Given the description of an element on the screen output the (x, y) to click on. 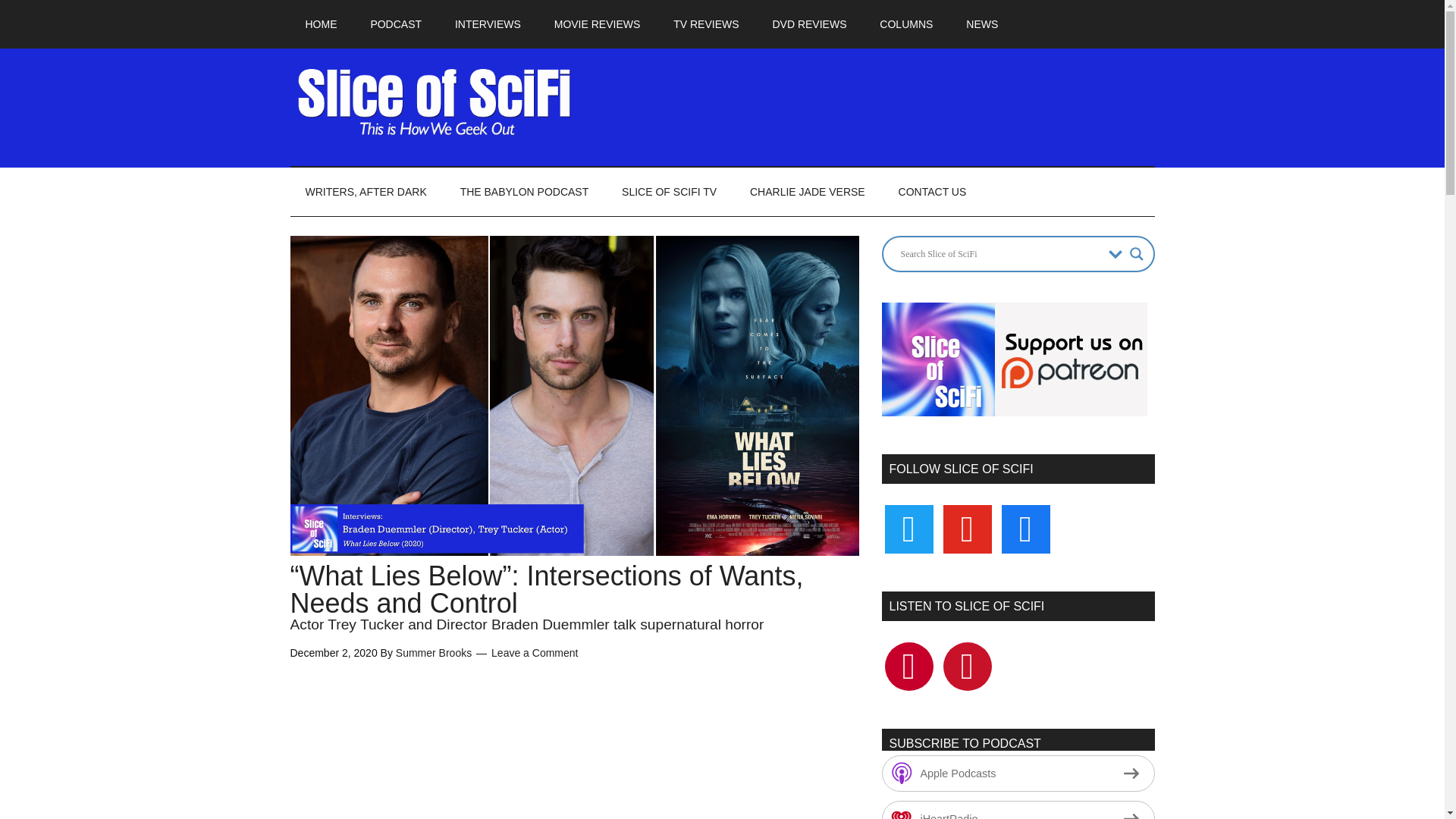
CHARLIE JADE VERSE (807, 191)
MOVIE REVIEWS (597, 24)
CONTACT US (932, 191)
HOME (320, 24)
SLICE OF SCIFI TV (669, 191)
Facebook (908, 665)
DVD REVIEWS (809, 24)
Twitter (908, 527)
THE BABYLON PODCAST (524, 191)
Summer Brooks (433, 653)
TV REVIEWS (706, 24)
PODCAST (395, 24)
Twitter (967, 665)
Slice of SciFi (433, 101)
Posts by Summer Brooks (433, 653)
